Given the description of an element on the screen output the (x, y) to click on. 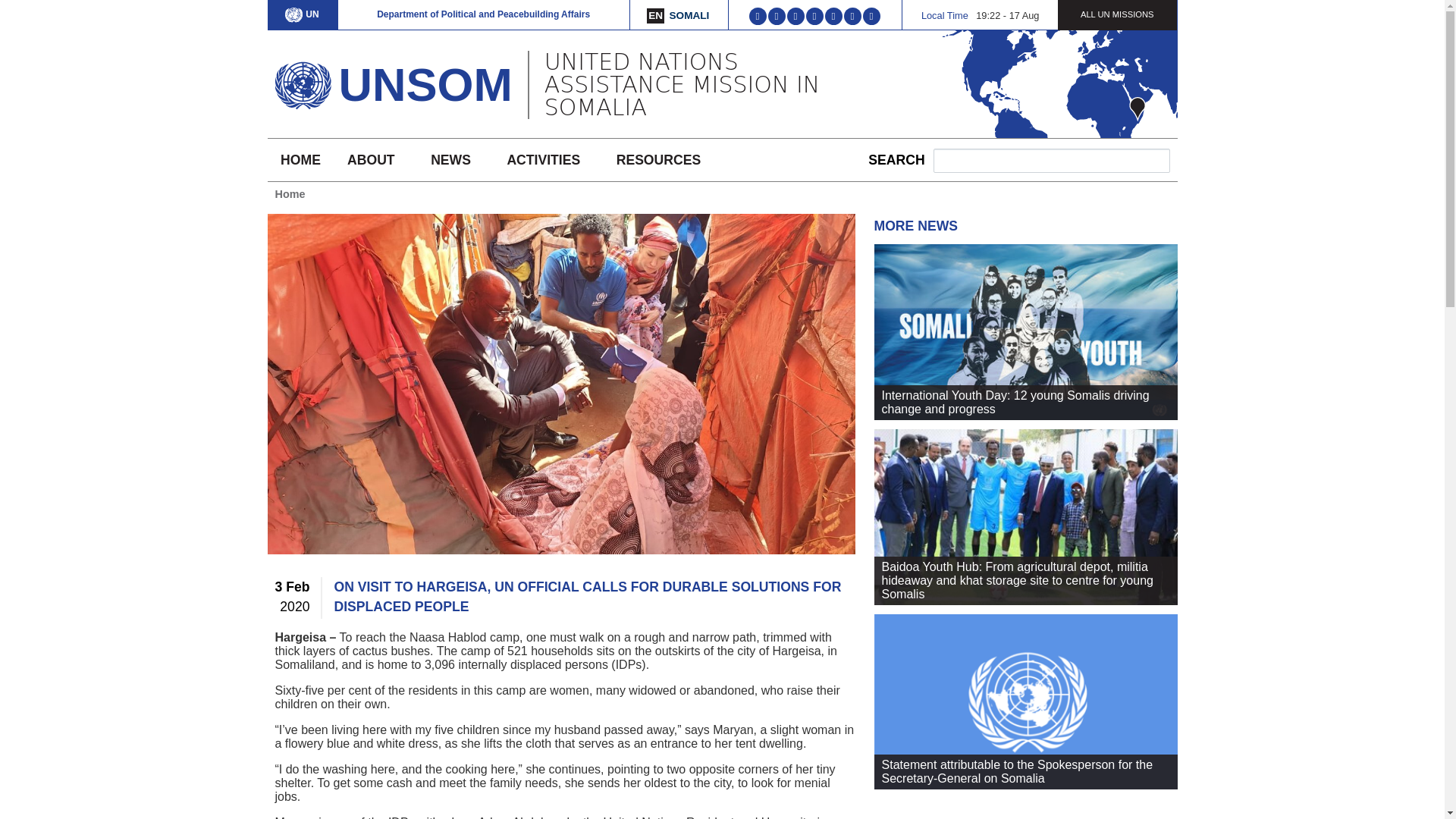
EN (654, 15)
HOME (299, 159)
UN (301, 14)
Department of Political and Peacebuilding Affairs (483, 14)
SOMALI (688, 15)
UNSOM (424, 84)
Home (301, 80)
ALL UN MISSIONS (1117, 13)
Enter the terms you wish to search for. (1051, 160)
